Given the description of an element on the screen output the (x, y) to click on. 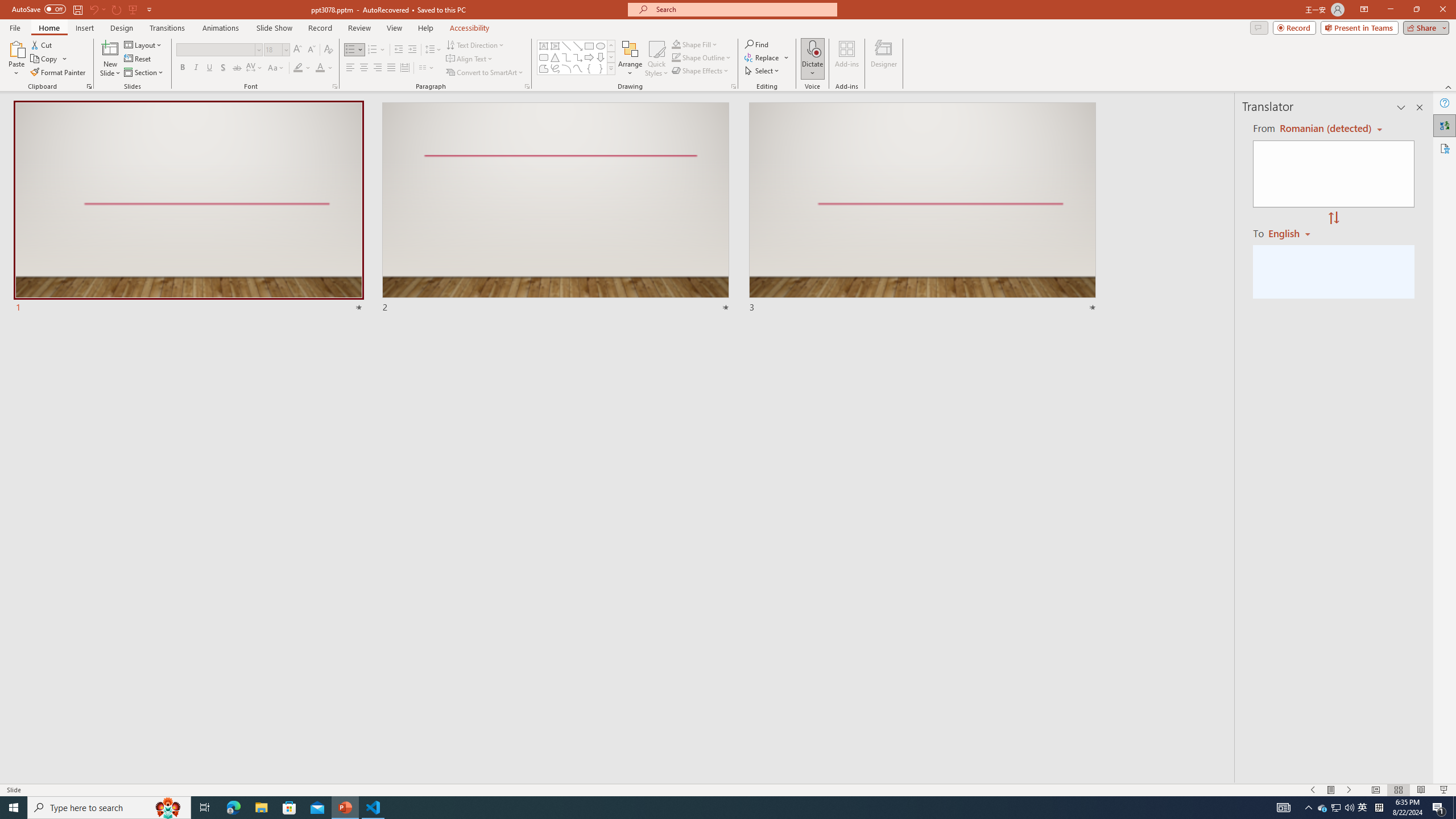
Shape Effects (700, 69)
